Given the description of an element on the screen output the (x, y) to click on. 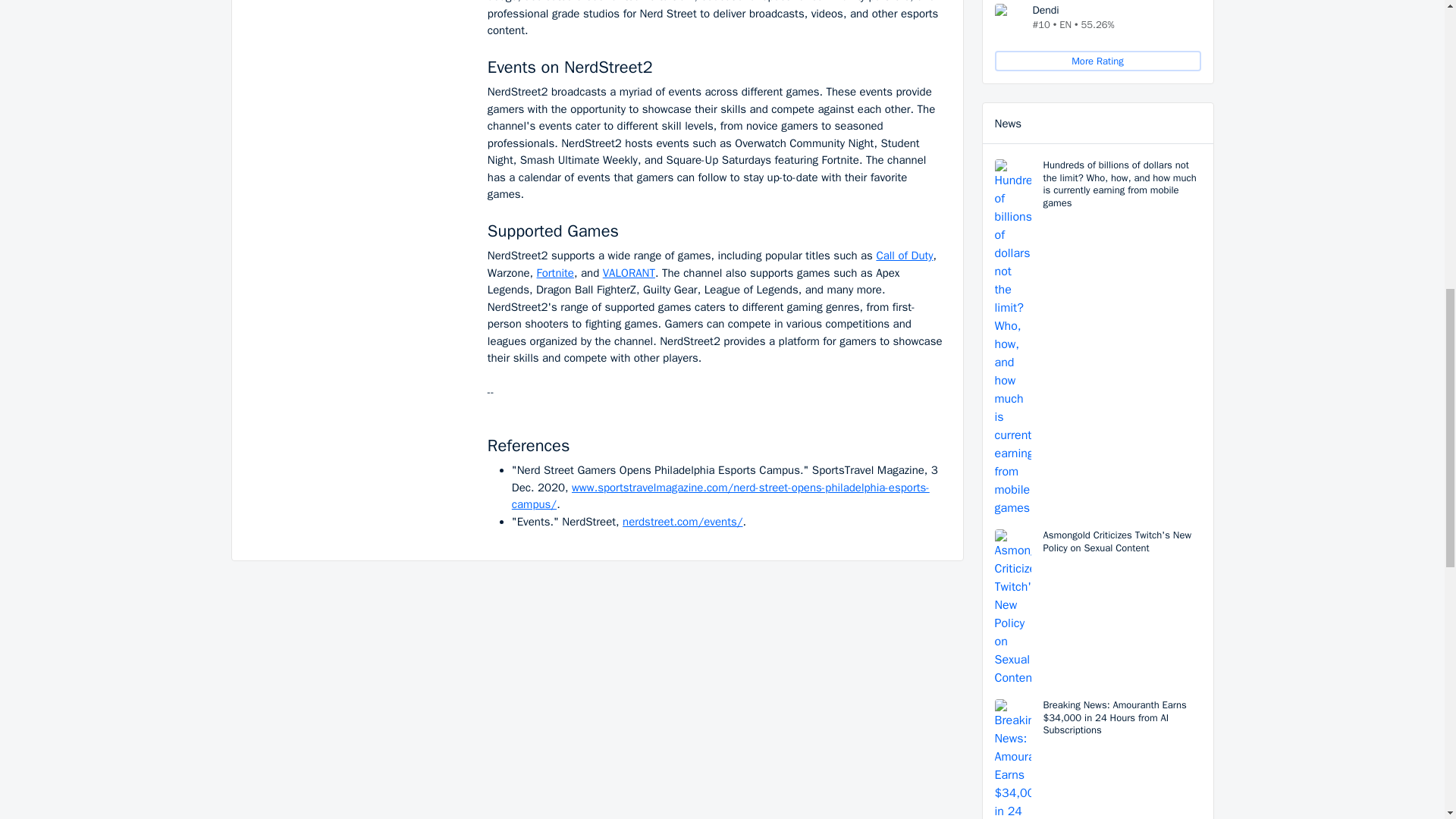
Fortnite (555, 273)
VALORANT (628, 273)
Dendi (1007, 16)
Call of Duty (904, 255)
